Given the description of an element on the screen output the (x, y) to click on. 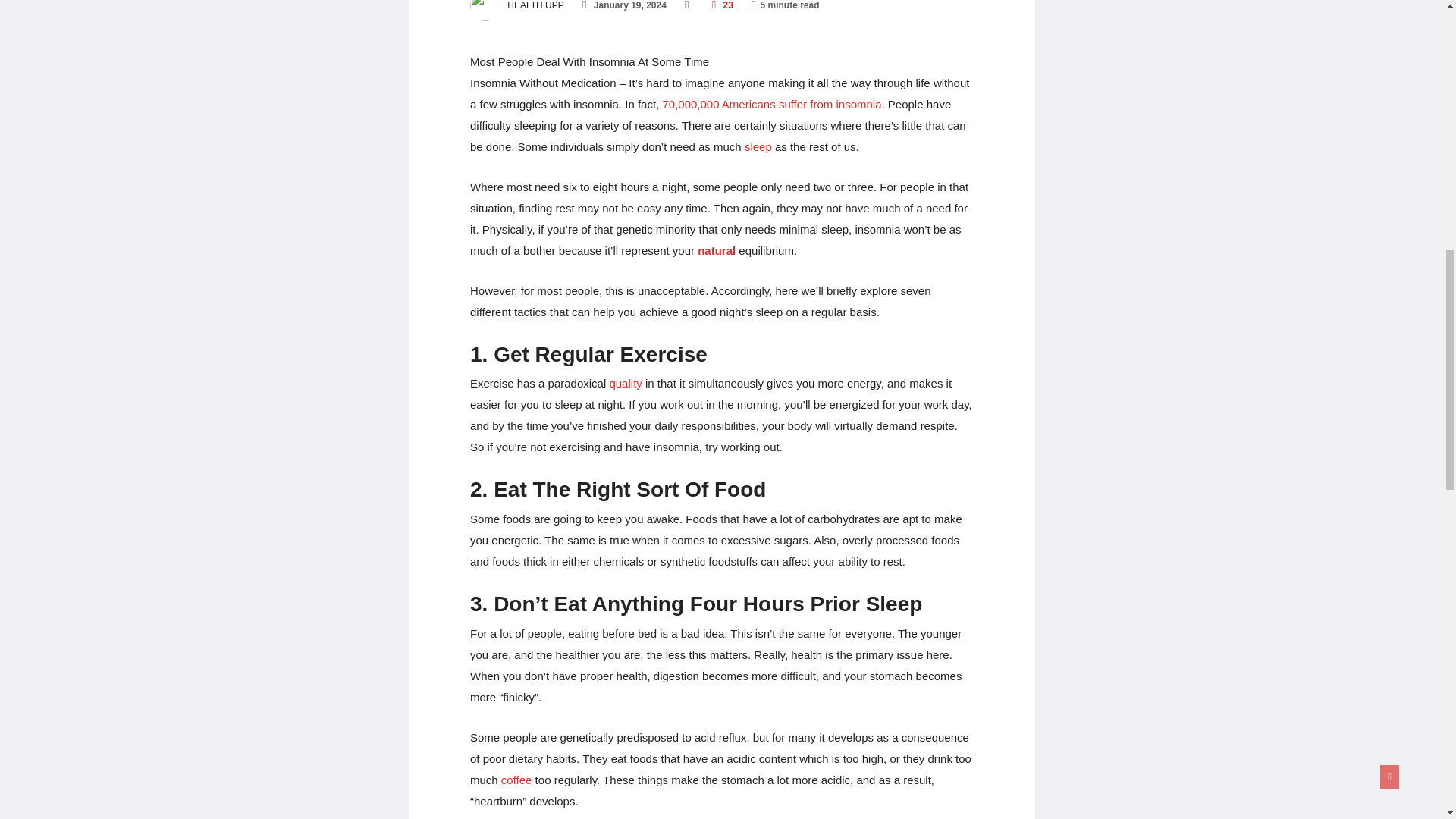
70,000,000 Americans suffer from insomnia (769, 103)
quality (625, 382)
natural (716, 250)
HEALTH UPP (517, 5)
sleep (757, 146)
coffee (516, 779)
